Given the description of an element on the screen output the (x, y) to click on. 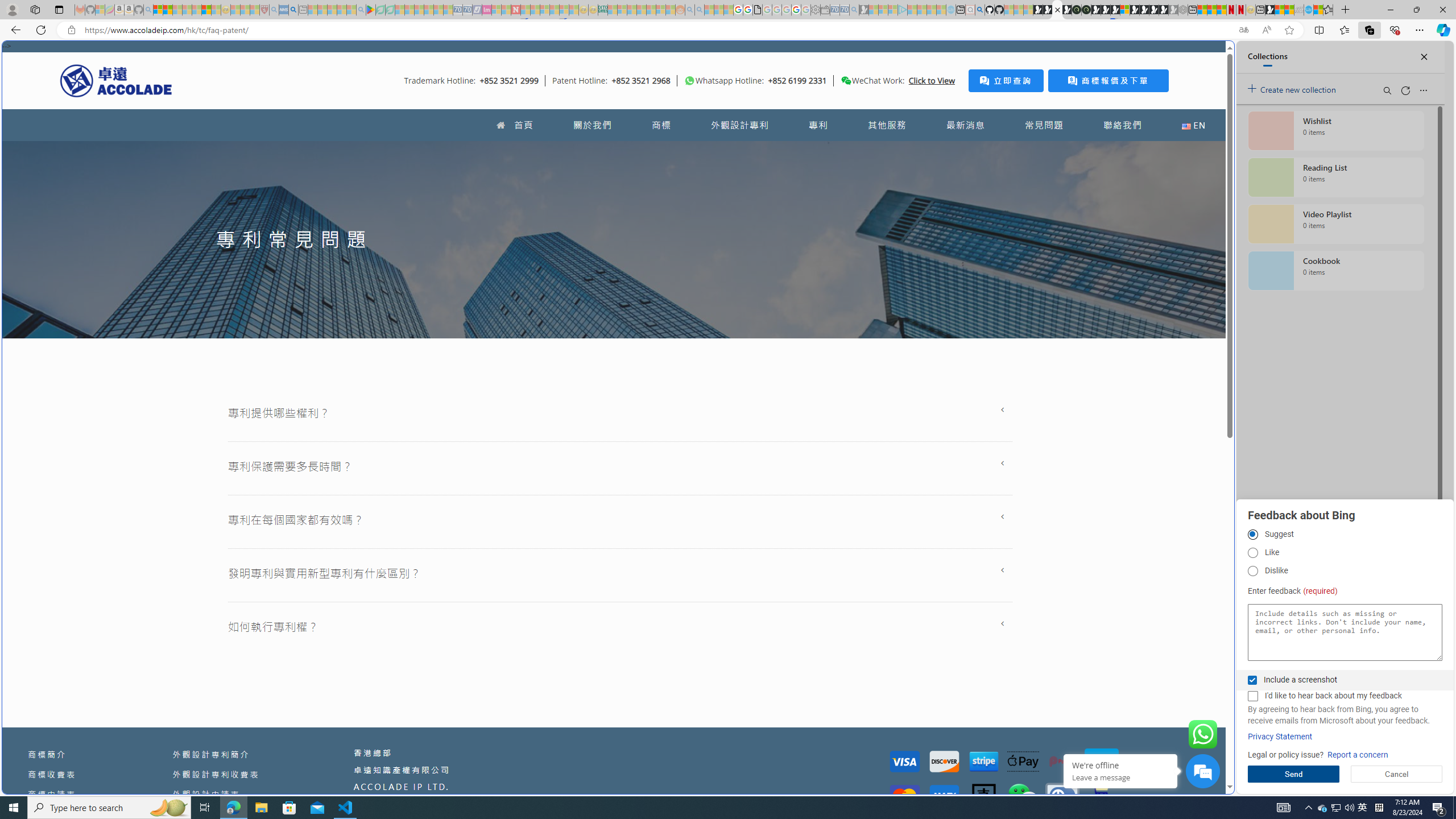
Latest Politics News & Archive | Newsweek.com - Sleeping (515, 9)
Privacy Statement (1280, 737)
Earth has six continents not seven, radical new study claims (1288, 9)
